Given the description of an element on the screen output the (x, y) to click on. 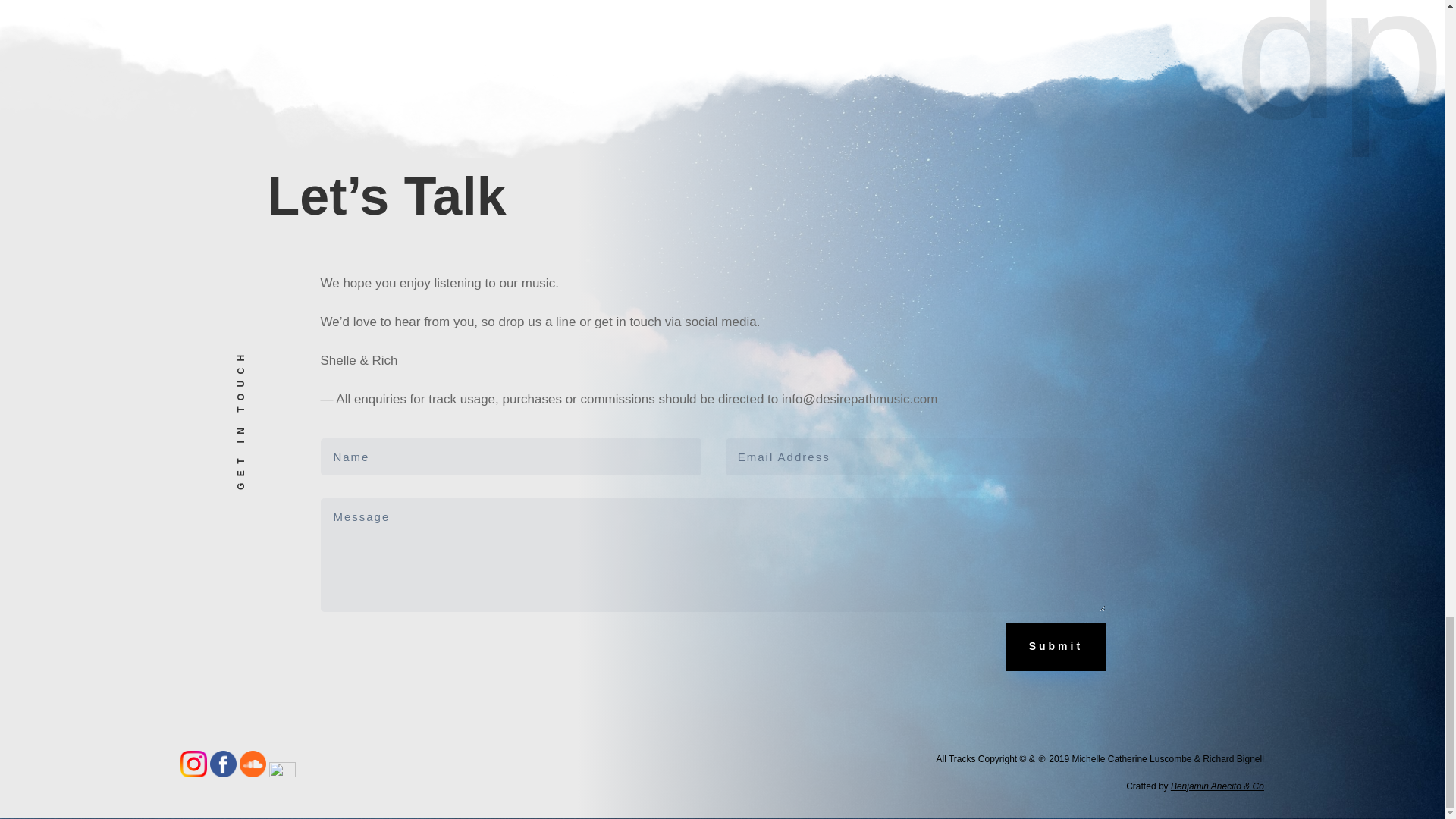
Submit (1055, 646)
